Given the description of an element on the screen output the (x, y) to click on. 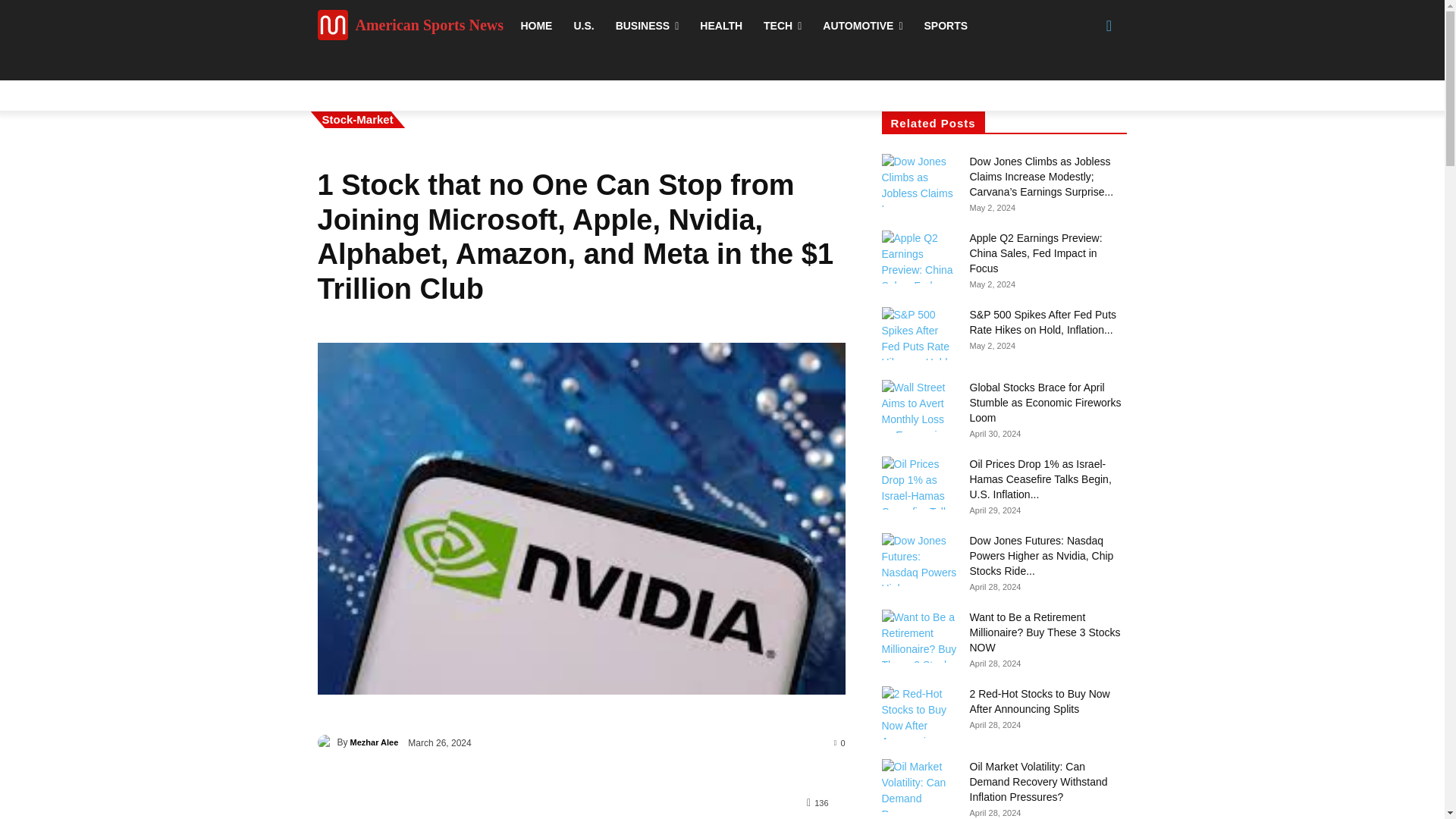
Mezhar Alee (326, 742)
U.S. (583, 25)
SPORTS (946, 25)
TECH (782, 25)
0 (839, 741)
AUTOMOTIVE (862, 25)
Stock-Market (357, 119)
HOME (535, 25)
Mezhar Alee (374, 742)
BUSINESS (647, 25)
